Given the description of an element on the screen output the (x, y) to click on. 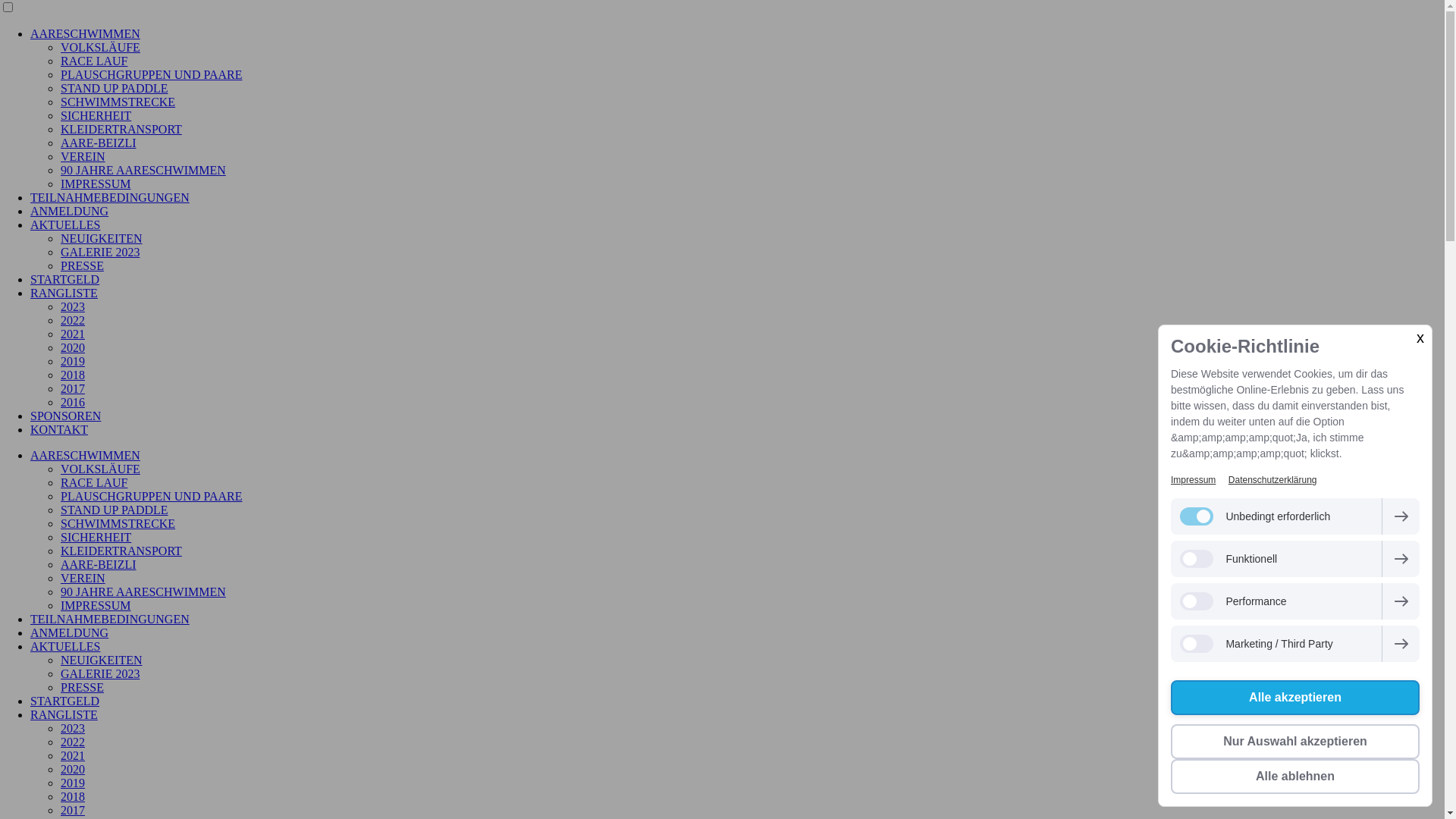
AARE-BEIZLI Element type: text (98, 142)
2017 Element type: text (72, 809)
SCHWIMMSTRECKE Element type: text (117, 101)
KLEIDERTRANSPORT Element type: text (121, 128)
AKTUELLES Element type: text (65, 224)
2016 Element type: text (72, 401)
SCHWIMMSTRECKE Element type: text (117, 523)
2021 Element type: text (72, 333)
NEUIGKEITEN Element type: text (101, 238)
PLAUSCHGRUPPEN UND PAARE Element type: text (150, 74)
2018 Element type: text (72, 796)
SICHERHEIT Element type: text (95, 536)
2023 Element type: text (72, 306)
PLAUSCHGRUPPEN UND PAARE Element type: text (150, 495)
2019 Element type: text (72, 360)
STAND UP PADDLE Element type: text (114, 87)
ANMELDUNG Element type: text (69, 210)
2020 Element type: text (72, 347)
IMPRESSUM Element type: text (95, 605)
RANGLISTE Element type: text (63, 292)
90 JAHRE AARESCHWIMMEN Element type: text (142, 169)
2020 Element type: text (72, 768)
TEILNAHMEBEDINGUNGEN Element type: text (109, 618)
Alle akzeptieren Element type: text (1294, 697)
KONTAKT Element type: text (58, 429)
SPONSOREN Element type: text (65, 415)
KLEIDERTRANSPORT Element type: text (121, 550)
GALERIE 2023 Element type: text (99, 673)
PRESSE Element type: text (81, 265)
2021 Element type: text (72, 755)
RACE LAUF Element type: text (93, 60)
AARESCHWIMMEN Element type: text (85, 33)
GALERIE 2023 Element type: text (99, 251)
VEREIN Element type: text (82, 577)
VEREIN Element type: text (82, 156)
TEILNAHMEBEDINGUNGEN Element type: text (109, 197)
RACE LAUF Element type: text (93, 482)
2022 Element type: text (72, 319)
AARESCHWIMMEN Element type: text (85, 454)
2022 Element type: text (72, 741)
90 JAHRE AARESCHWIMMEN Element type: text (142, 591)
ANMELDUNG Element type: text (69, 632)
2019 Element type: text (72, 782)
2023 Element type: text (72, 727)
Nur Auswahl akzeptieren Element type: text (1294, 741)
STARTGELD Element type: text (64, 279)
NEUIGKEITEN Element type: text (101, 659)
AKTUELLES Element type: text (65, 646)
Alle ablehnen Element type: text (1294, 776)
Impressum Element type: text (1192, 479)
2017 Element type: text (72, 388)
IMPRESSUM Element type: text (95, 183)
STAND UP PADDLE Element type: text (114, 509)
RANGLISTE Element type: text (63, 714)
PRESSE Element type: text (81, 686)
STARTGELD Element type: text (64, 700)
AARE-BEIZLI Element type: text (98, 564)
SICHERHEIT Element type: text (95, 115)
2018 Element type: text (72, 374)
